Given the description of an element on the screen output the (x, y) to click on. 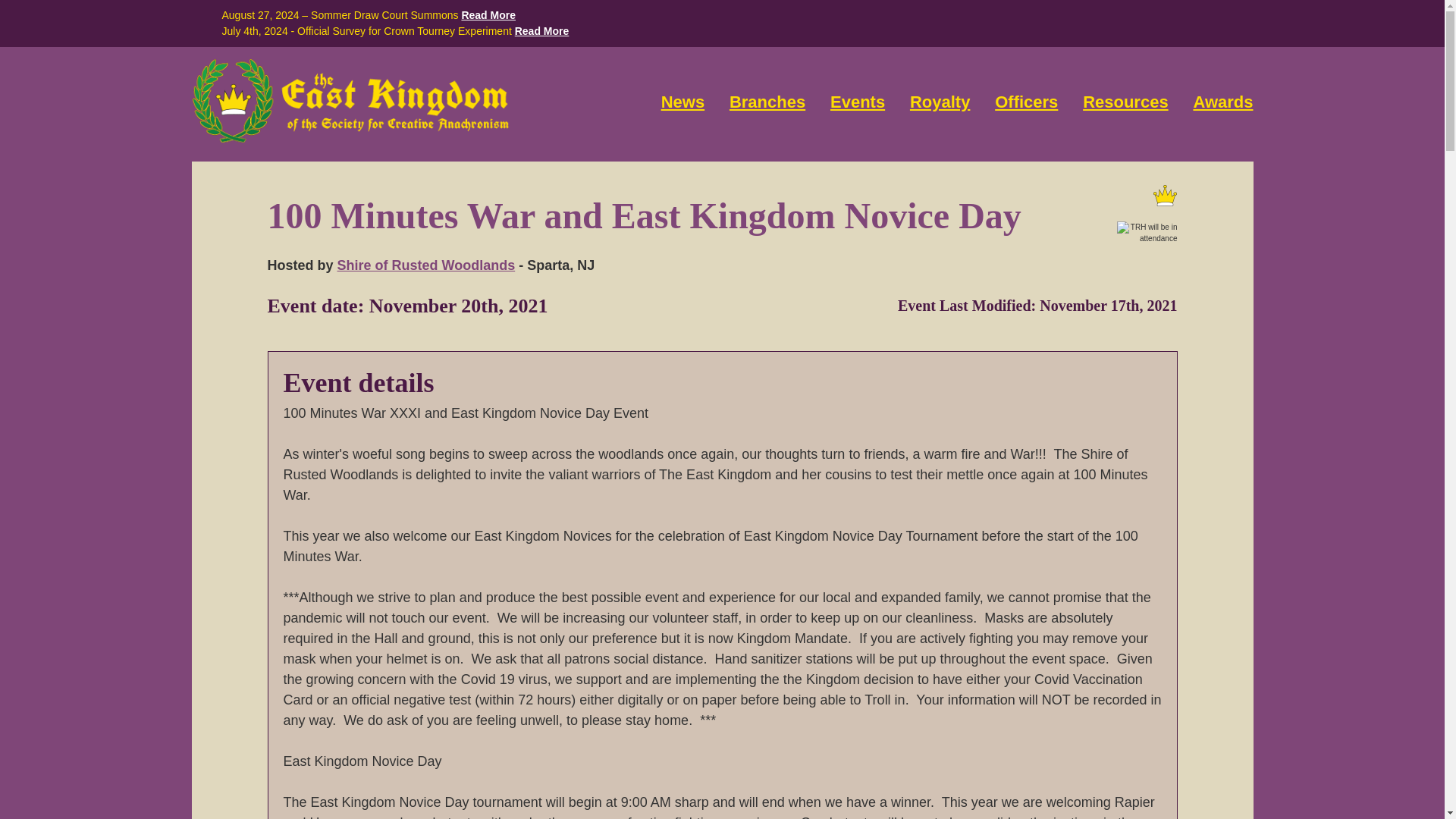
TRM will be in attendance (1165, 195)
Branches (767, 101)
TRH will be in attendance (1146, 232)
News (682, 101)
Royalty (939, 101)
Resources (1126, 101)
Officers (1026, 101)
Read More (542, 30)
Events (857, 101)
Awards (1222, 101)
